Given the description of an element on the screen output the (x, y) to click on. 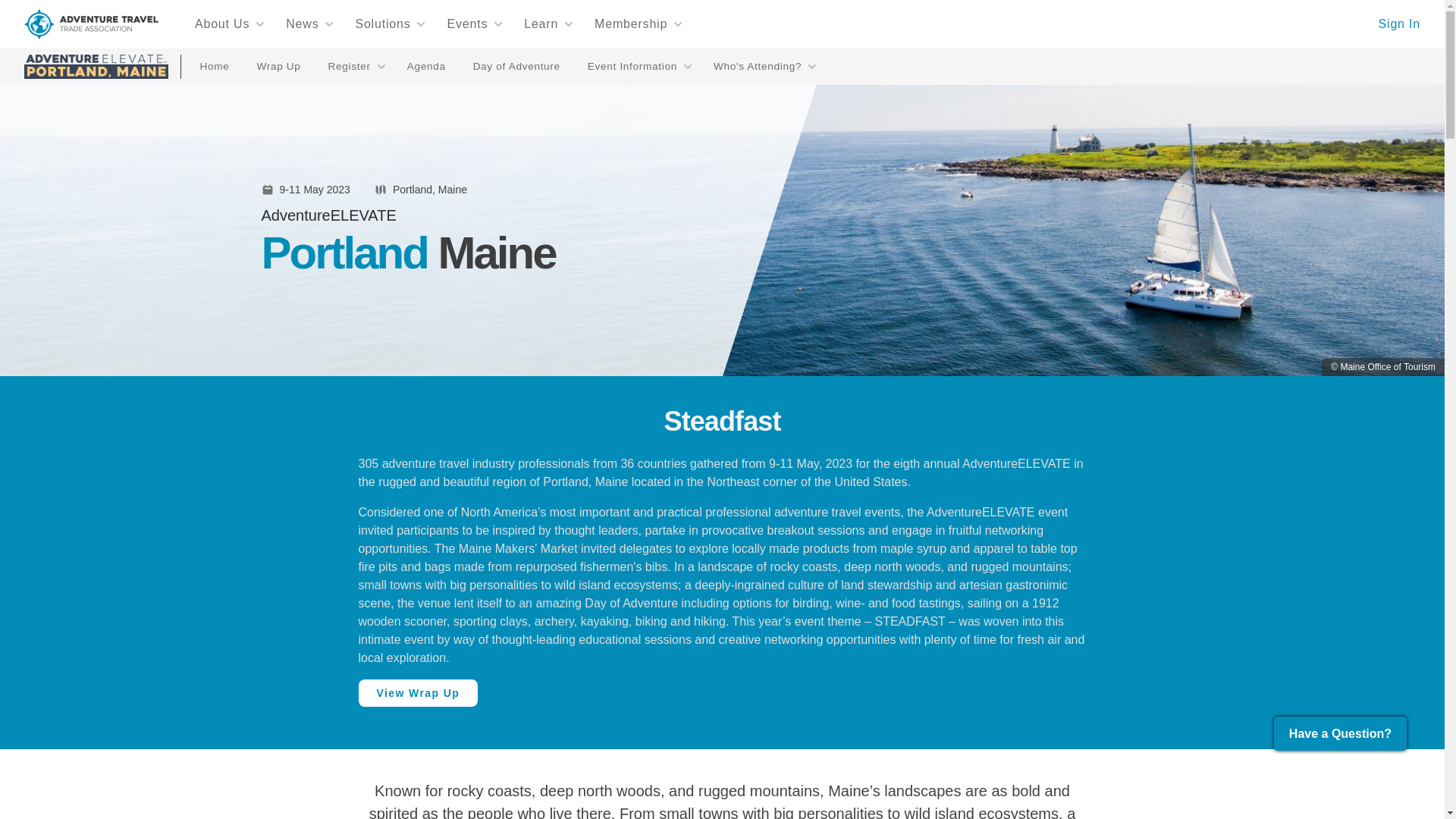
News (309, 24)
About Us (229, 24)
Solutions (390, 24)
Events (474, 24)
